Given the description of an element on the screen output the (x, y) to click on. 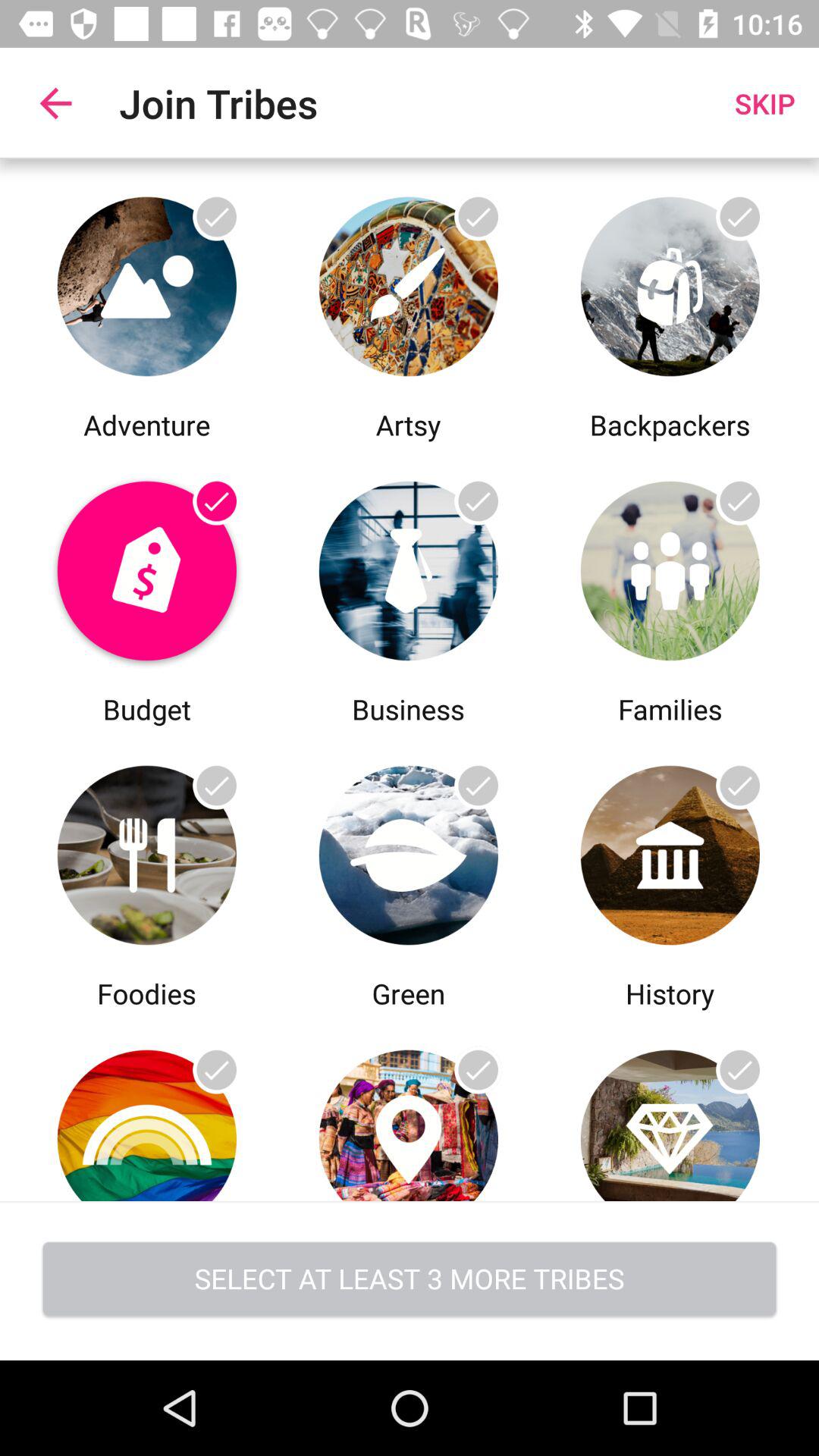
join backpacker tribe (669, 282)
